Given the description of an element on the screen output the (x, y) to click on. 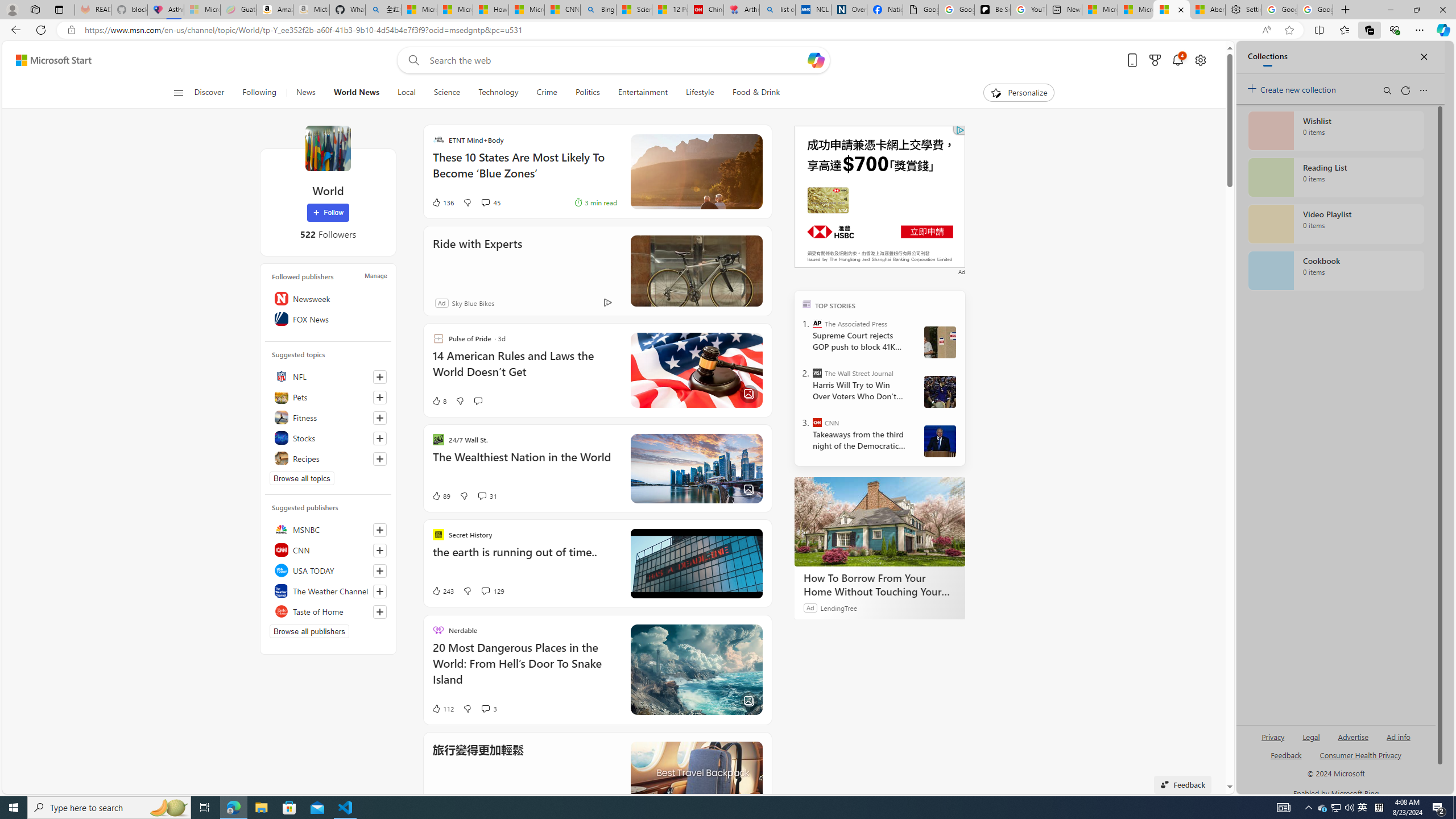
Class: qc-adchoices-link top-right  (959, 129)
FOX News (327, 318)
CNN - MSN (562, 9)
89 Like (440, 495)
USA TODAY (327, 570)
LendingTree (838, 607)
View comments 45 Comment (485, 202)
AutomationID: sb_feedback (1286, 754)
